Given the description of an element on the screen output the (x, y) to click on. 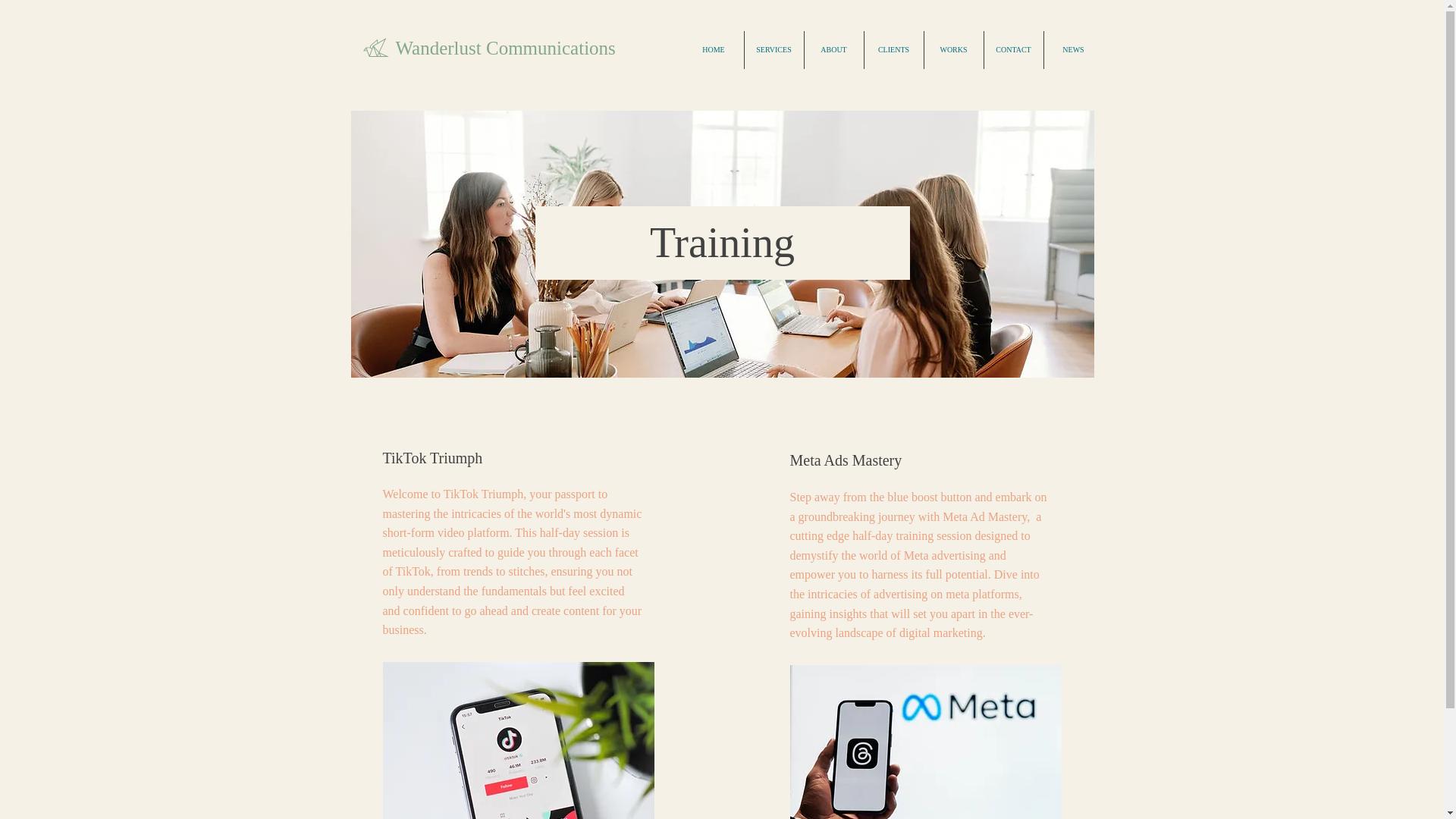
WORKS (952, 49)
CONTACT (1013, 49)
NEWS (1072, 49)
Wanderlust Communications (505, 47)
SERVICES (773, 49)
CLIENTS (893, 49)
ABOUT (833, 49)
HOME (714, 49)
